Given the description of an element on the screen output the (x, y) to click on. 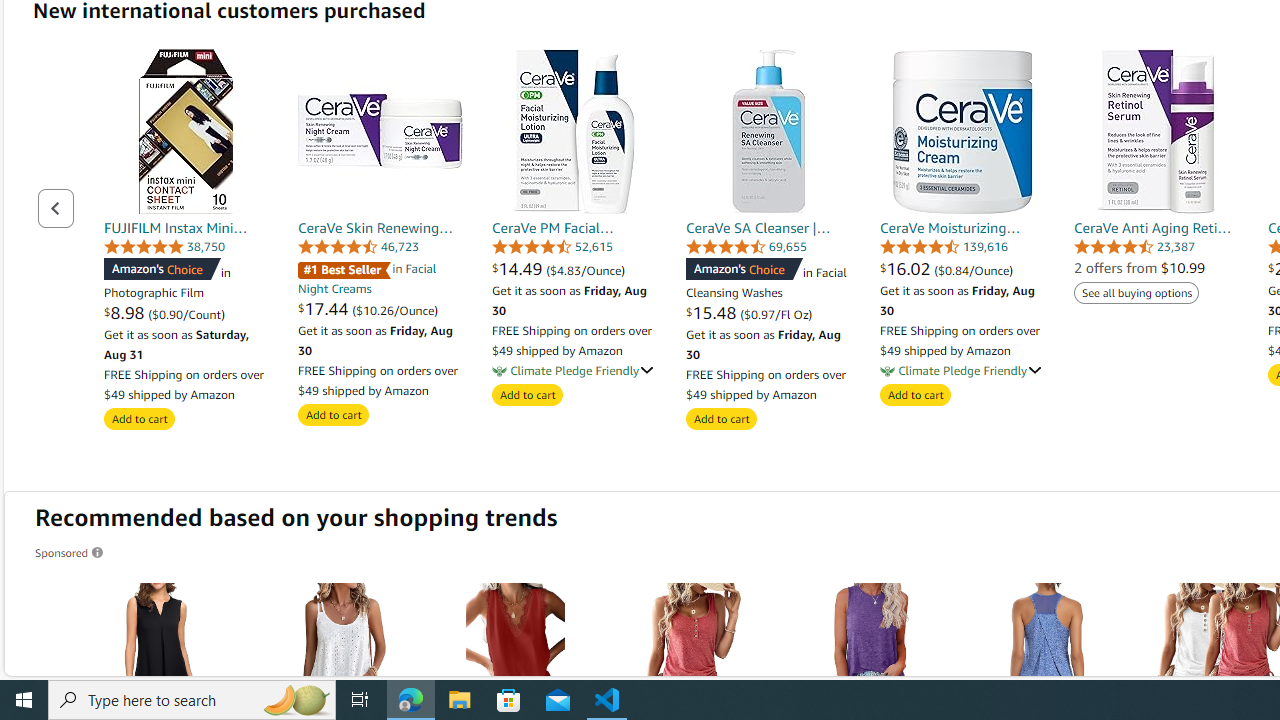
Add to cart (914, 395)
2 offers from $10.99 (1139, 268)
$17.44  (325, 308)
